Given the description of an element on the screen output the (x, y) to click on. 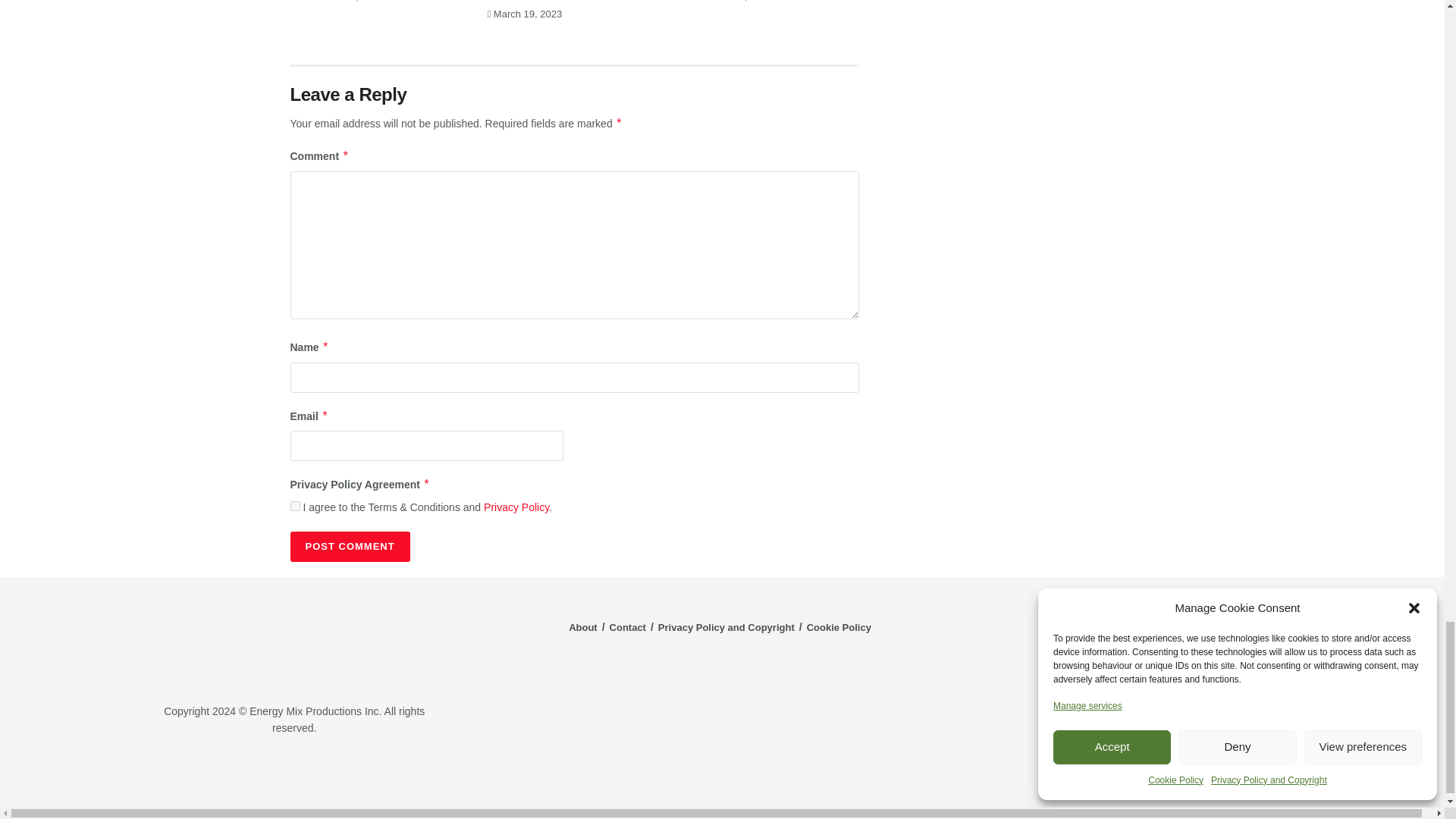
on (294, 506)
Post Comment (349, 546)
Climate-and-Capital (1221, 772)
tem-logo-2024 (294, 641)
